Given the description of an element on the screen output the (x, y) to click on. 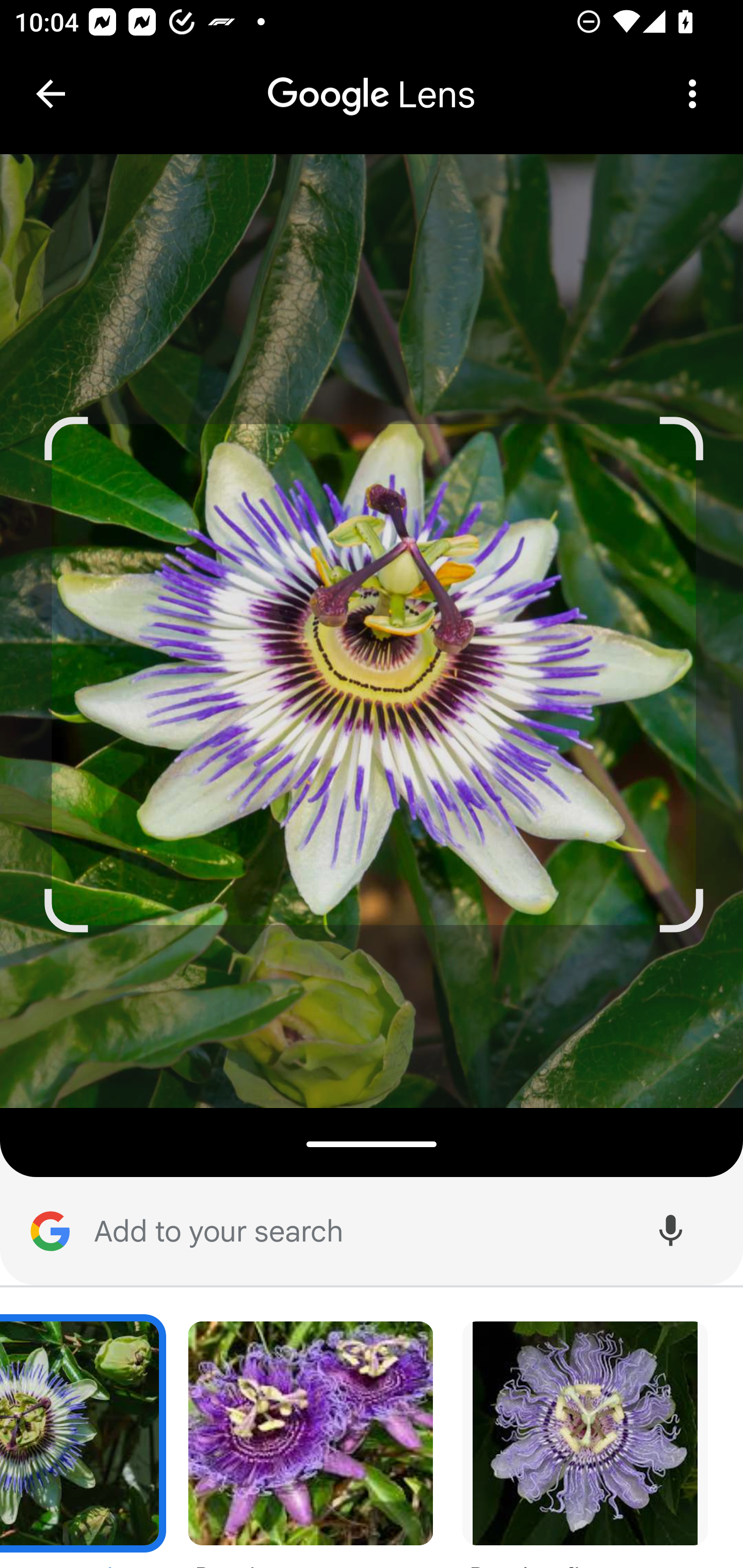
Google Lens Lens (371, 80)
Go back (50, 94)
More options (692, 94)
Voice Search (670, 1231)
Show results for Passiflora caerulea (83, 1440)
Show results for Purple passionflower (311, 1440)
Show results for Passion flowers (585, 1440)
